Given the description of an element on the screen output the (x, y) to click on. 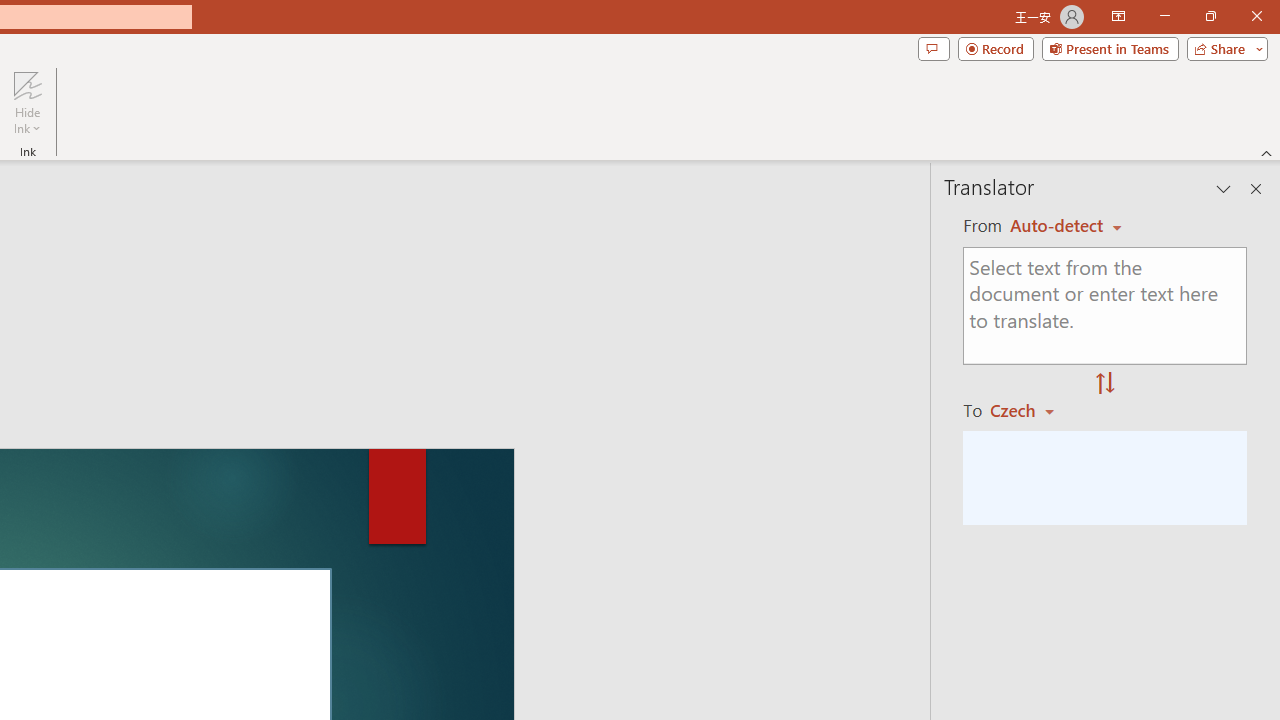
English (1066, 225)
Hide Ink (27, 84)
